Given the description of an element on the screen output the (x, y) to click on. 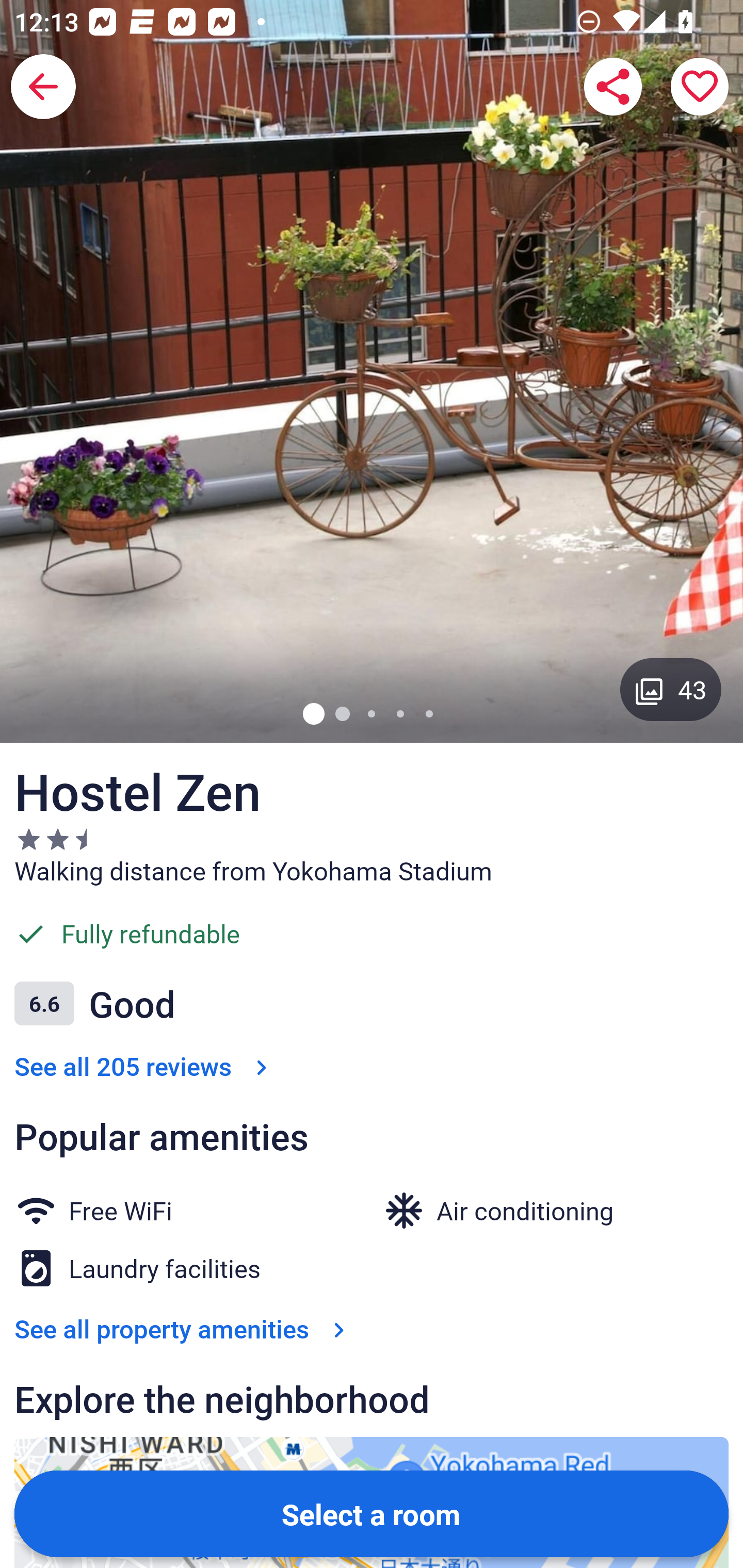
Back (43, 86)
Save property to a trip (699, 86)
Share Hostel Zen (612, 87)
Gallery button with 43 images (670, 689)
See all 205 reviews See all 205 reviews Link (144, 1066)
See all property amenities (183, 1328)
Select a room Button Select a room (371, 1513)
